Given the description of an element on the screen output the (x, y) to click on. 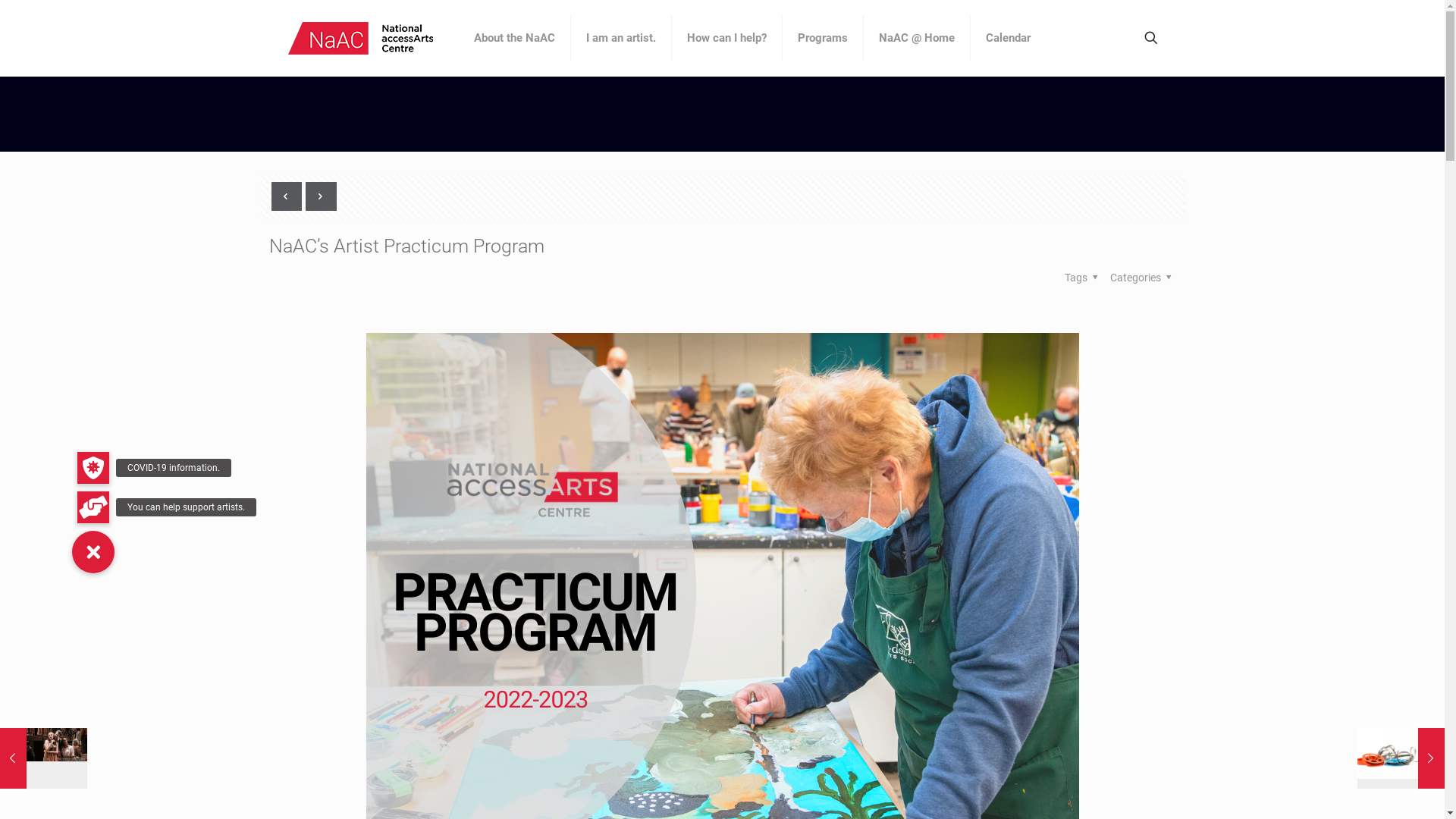
You can help support artists. Element type: text (93, 507)
I am an artist. Element type: text (620, 37)
NaAC @ Home Element type: text (915, 37)
About the NaAC Element type: text (514, 37)
Calendar Element type: text (1007, 37)
How can I help? Element type: text (726, 37)
COVID-19 information. Element type: text (93, 467)
Programs Element type: text (822, 37)
National accessArts Centre Element type: hover (359, 37)
